Given the description of an element on the screen output the (x, y) to click on. 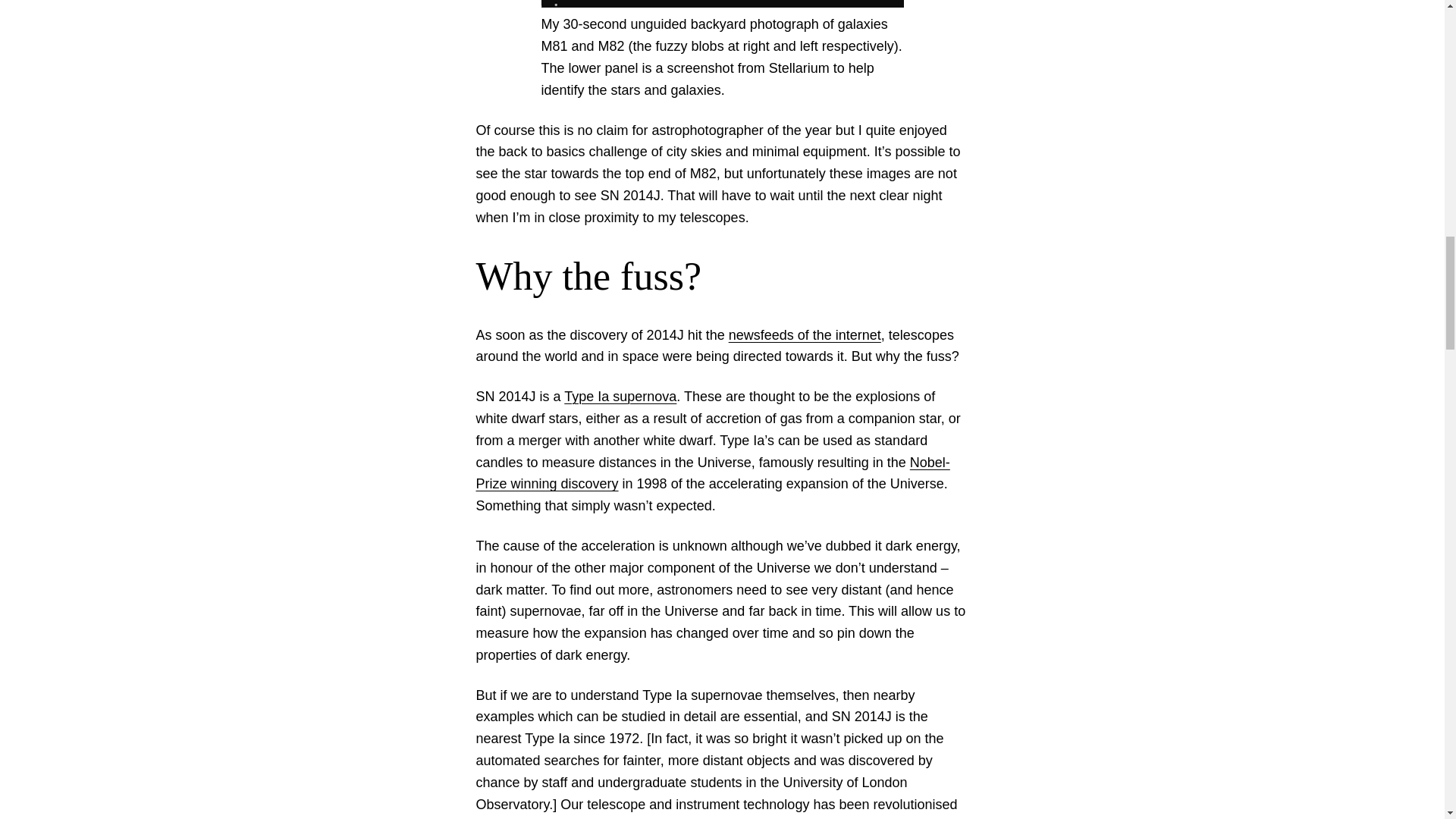
Type Ia supernova (620, 396)
newsfeeds of the internet (804, 335)
Nobel-Prize winning discovery (713, 473)
